Given the description of an element on the screen output the (x, y) to click on. 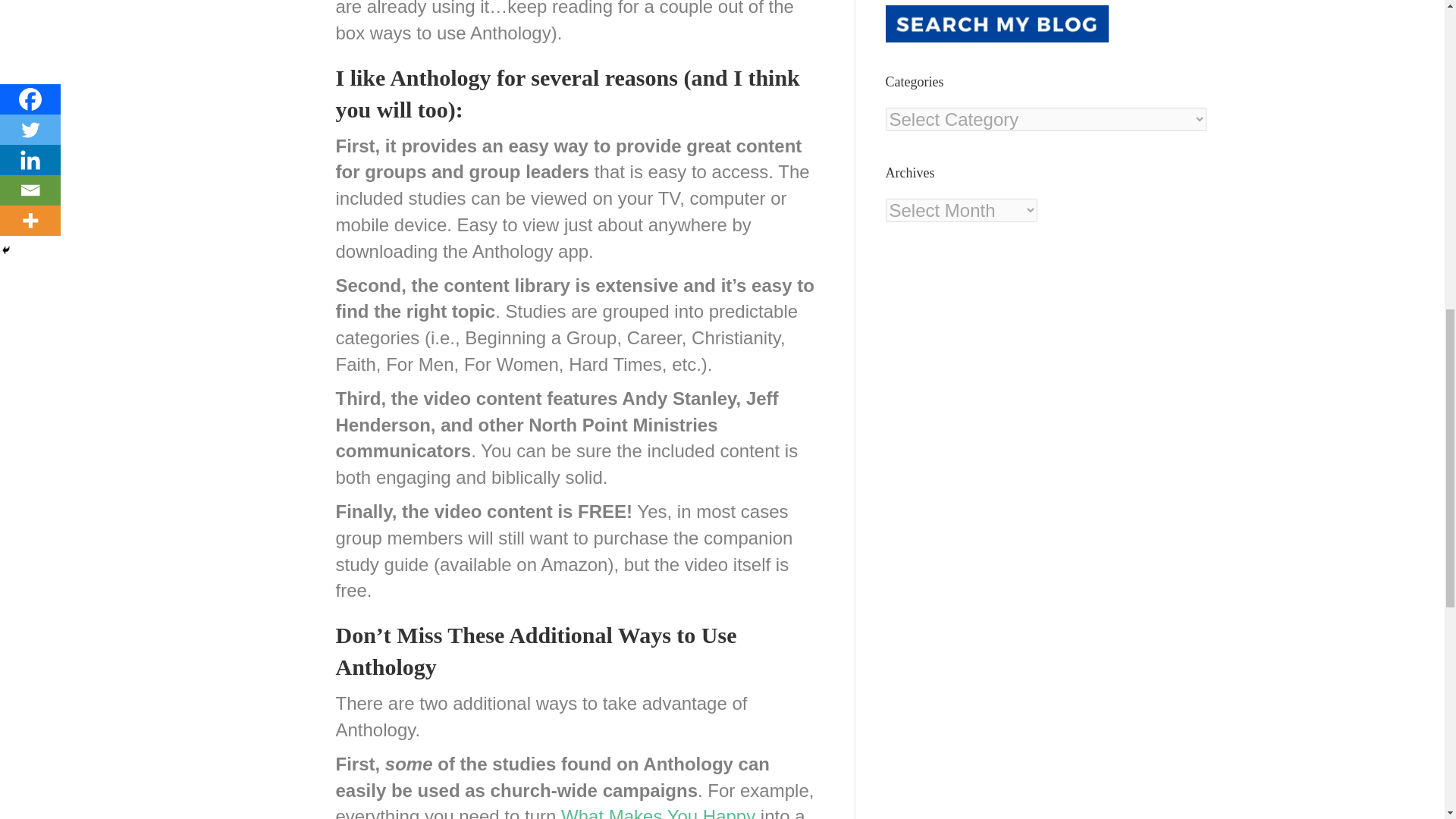
What Makes You Happy (657, 812)
